Given the description of an element on the screen output the (x, y) to click on. 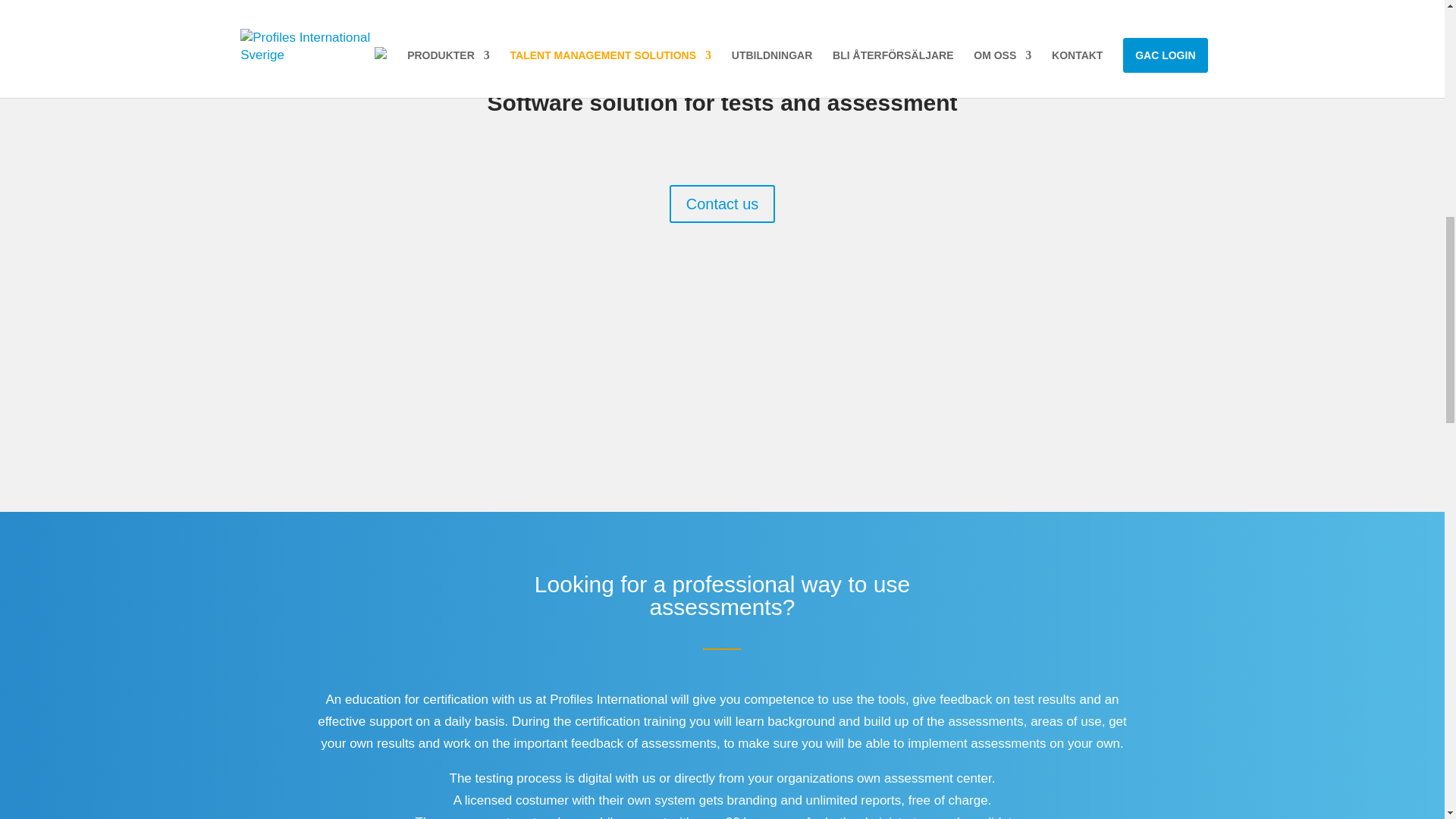
Leadership development (603, 36)
Hiring and Selection (373, 36)
Contact us (722, 203)
Select and Motivate (1020, 36)
Team development (802, 36)
